Given the description of an element on the screen output the (x, y) to click on. 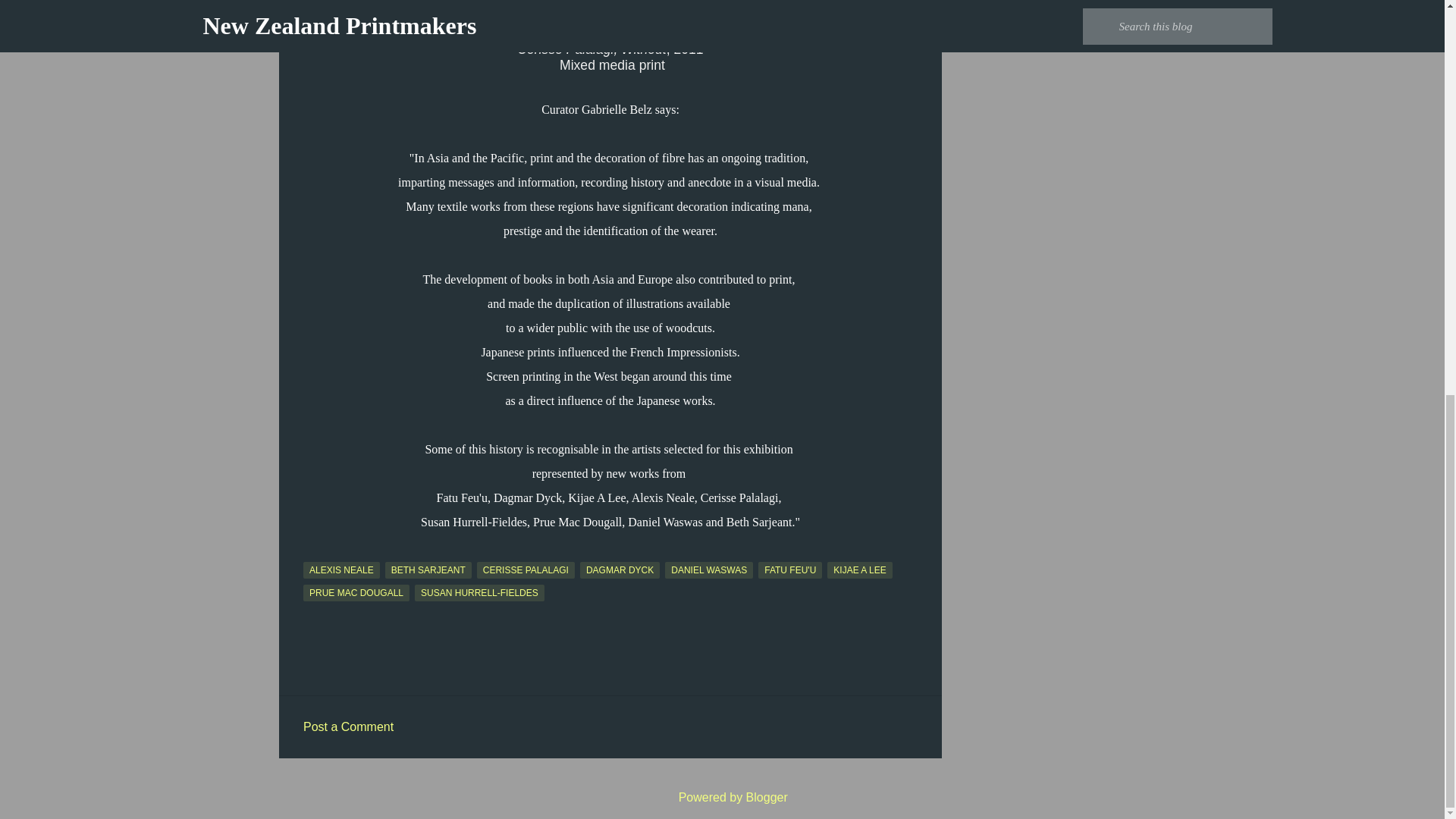
DANIEL WASWAS (708, 569)
DAGMAR DYCK (619, 569)
KIJAE A LEE (859, 569)
Powered by Blogger (721, 797)
PRUE MAC DOUGALL (355, 592)
Post a Comment (347, 726)
FATU FEU'U (790, 569)
SUSAN HURRELL-FIELDES (479, 592)
CERISSE PALALAGI (526, 569)
ALEXIS NEALE (341, 569)
